Given the description of an element on the screen output the (x, y) to click on. 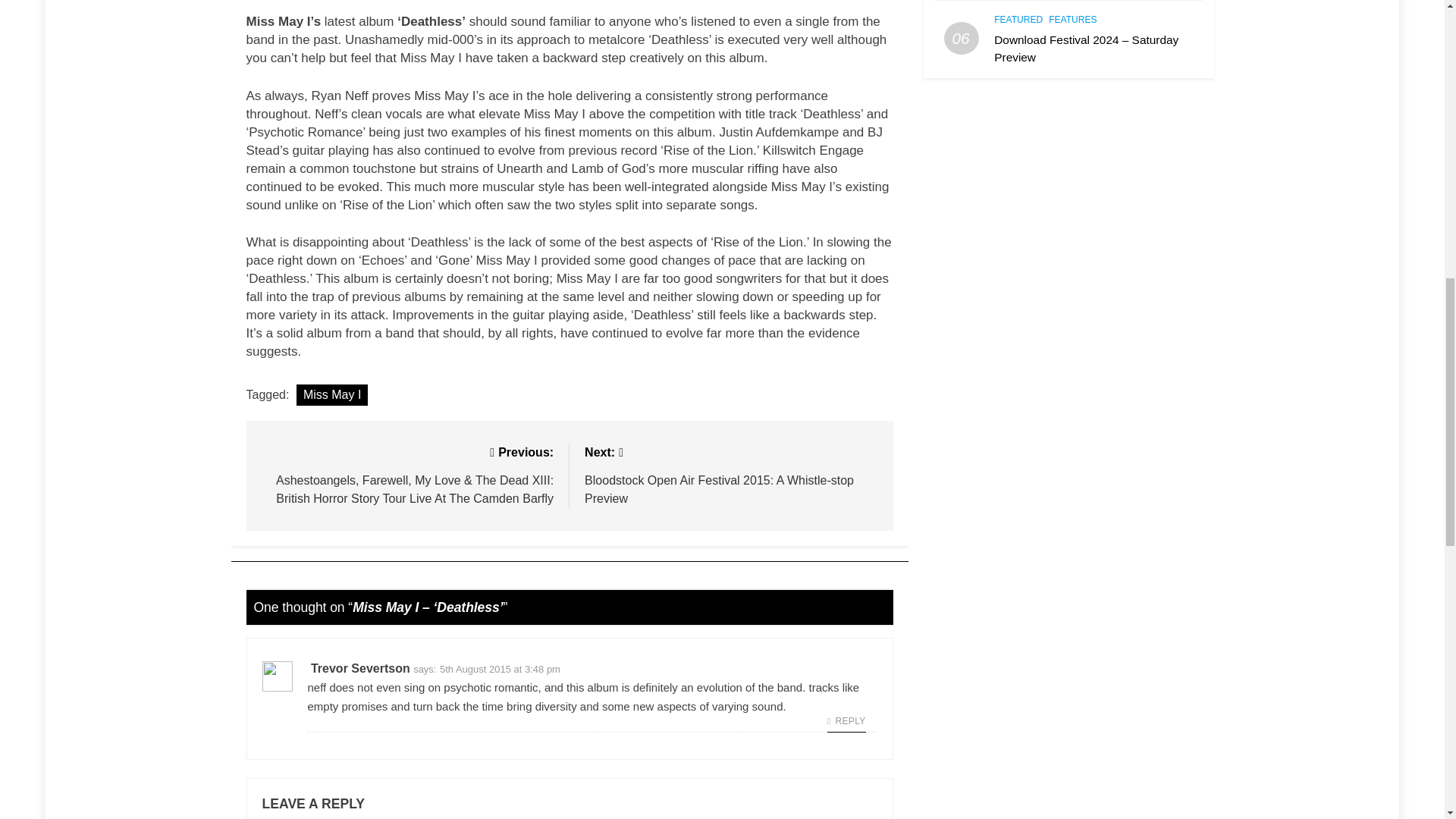
5th August 2015 at 3:48 pm (499, 668)
Miss May I (332, 394)
REPLY (846, 721)
